Given the description of an element on the screen output the (x, y) to click on. 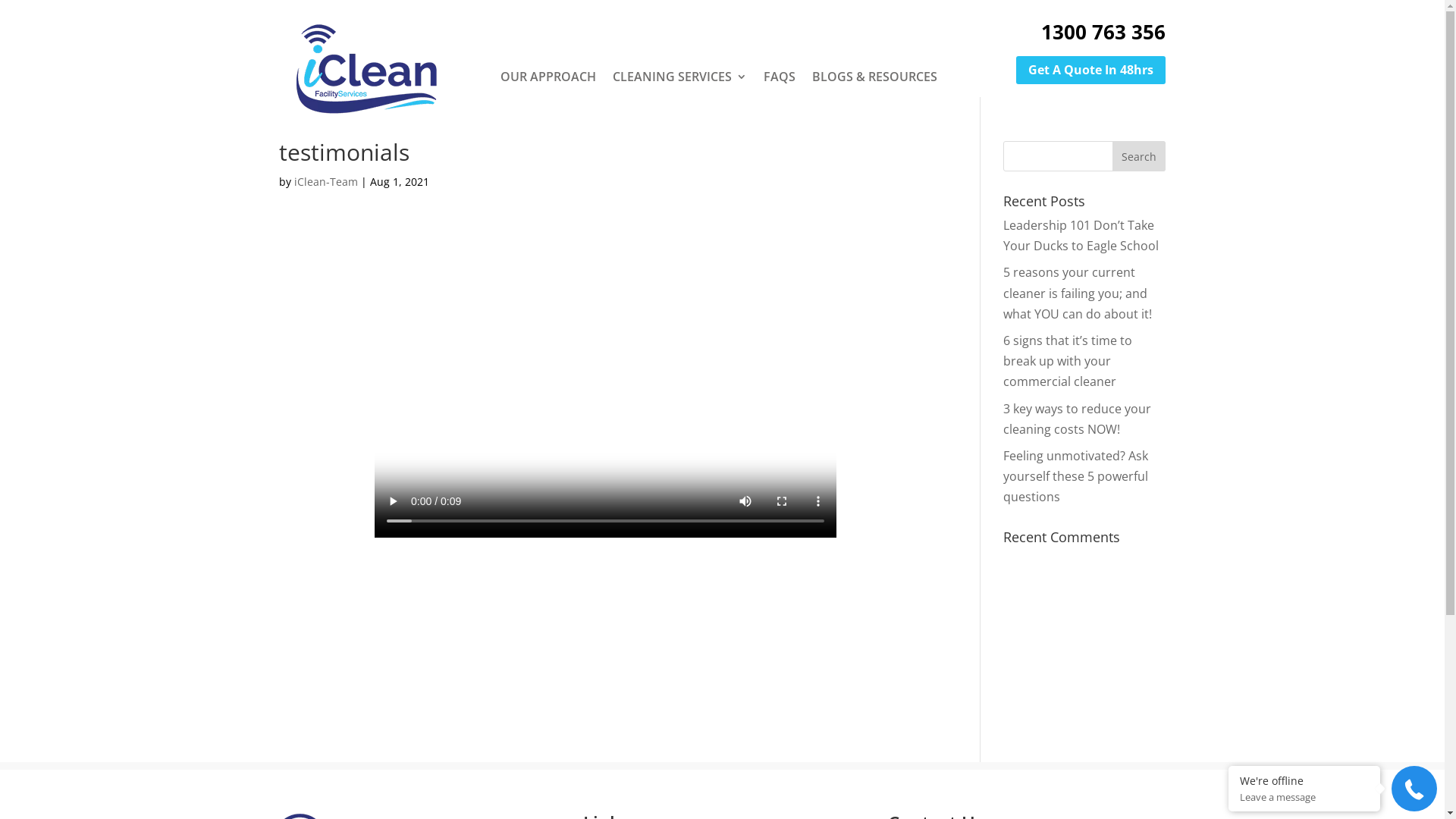
iClean-Team Element type: text (325, 181)
BLOGS & RESOURCES Element type: text (874, 76)
Get A Quote In 48hrs Element type: text (1090, 70)
3 key ways to reduce your cleaning costs NOW! Element type: text (1077, 418)
Search Element type: text (1138, 156)
OUR APPROACH Element type: text (548, 76)
CLEANING SERVICES Element type: text (679, 76)
FAQS Element type: text (779, 76)
Feeling unmotivated? Ask yourself these 5 powerful questions Element type: text (1075, 476)
